Given the description of an element on the screen output the (x, y) to click on. 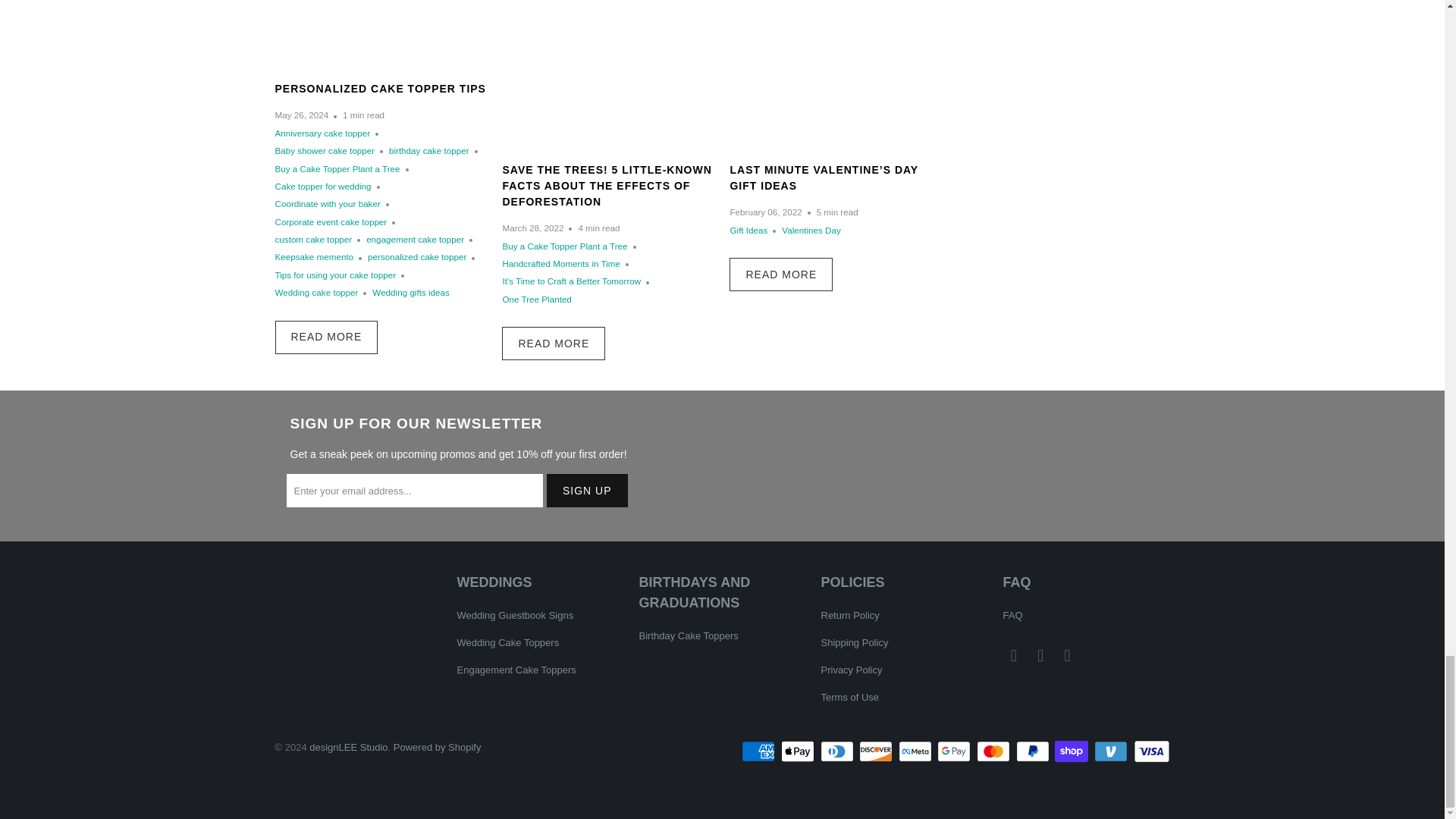
Visa (1150, 751)
Discover (877, 751)
Venmo (1112, 751)
PayPal (1034, 751)
Apple Pay (798, 751)
Sign Up (587, 490)
American Express (759, 751)
Google Pay (955, 751)
Meta Pay (916, 751)
Mastercard (994, 751)
